Given the description of an element on the screen output the (x, y) to click on. 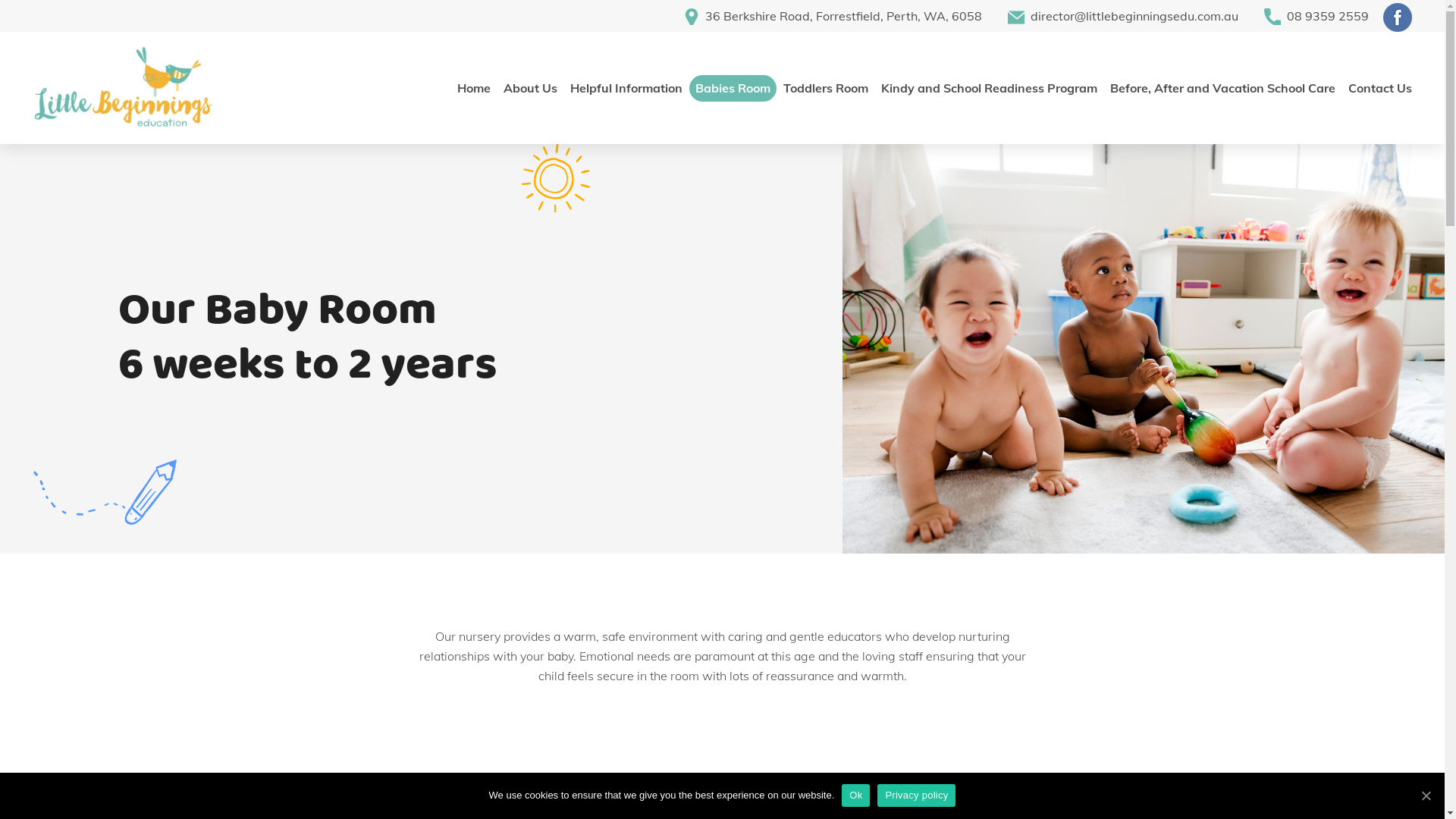
Ok Element type: text (855, 795)
08 9359 2559 Element type: text (1304, 15)
Helpful Information Element type: text (626, 88)
Kindy and School Readiness Program Element type: text (989, 88)
director@littlebeginningsedu.com.au Element type: text (1111, 15)
About Us Element type: text (530, 88)
Privacy policy Element type: text (916, 795)
Before, After and Vacation School Care Element type: text (1222, 88)
Home Element type: text (473, 88)
Toddlers Room Element type: text (825, 88)
Babies Room Element type: text (732, 88)
Contact Us Element type: text (1380, 88)
